Given the description of an element on the screen output the (x, y) to click on. 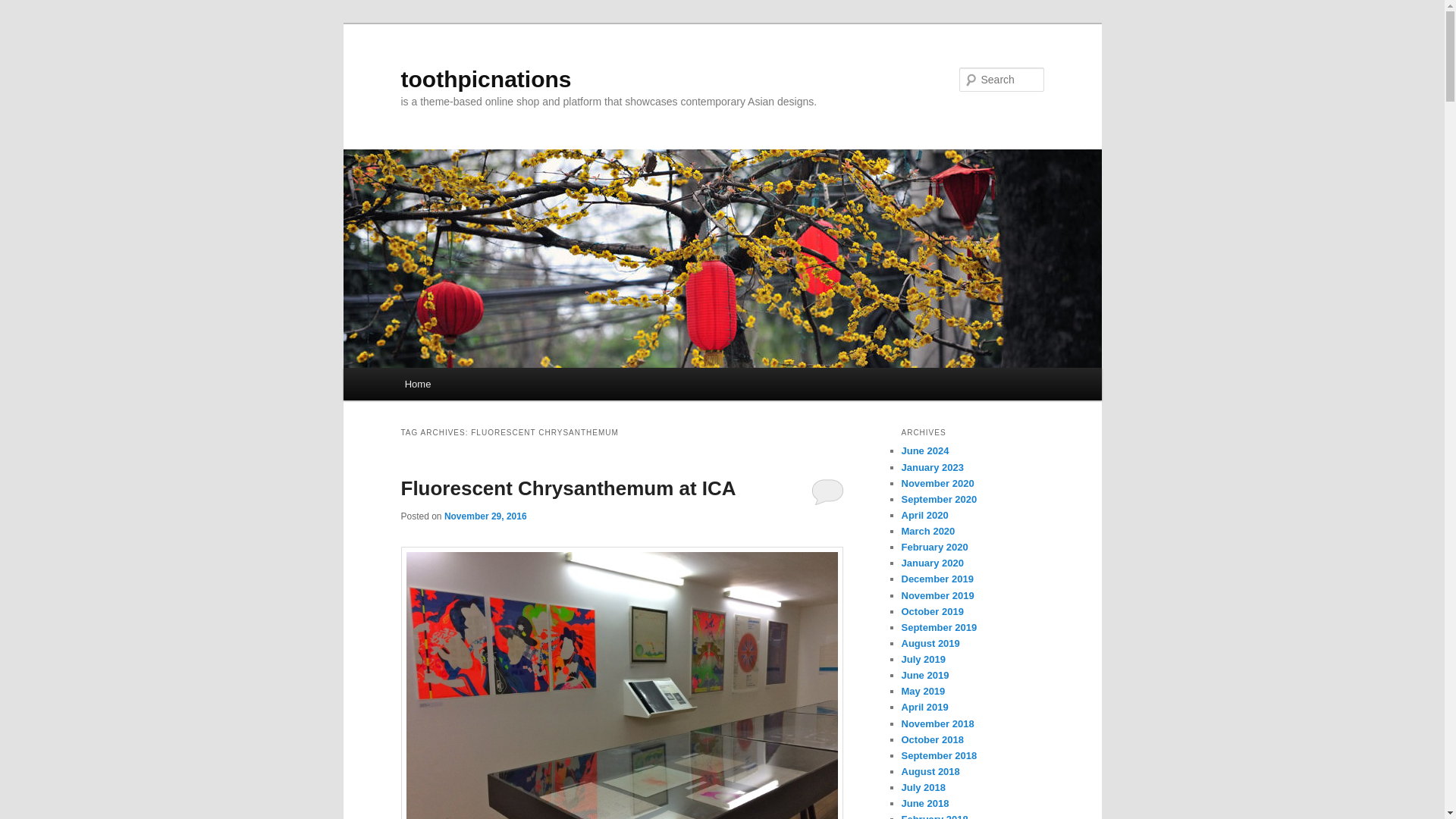
Fluorescent Chrysanthemum at ICA (567, 487)
toothpicnations (485, 78)
Permalink to Fluorescent Chrysanthemum at ICA (567, 487)
Skip to primary content (472, 386)
Home (417, 383)
Search (24, 8)
Skip to primary content (472, 386)
toothpicnations (485, 78)
Skip to secondary content (479, 386)
3:33 pm (485, 516)
Skip to secondary content (479, 386)
November 29, 2016 (485, 516)
